Given the description of an element on the screen output the (x, y) to click on. 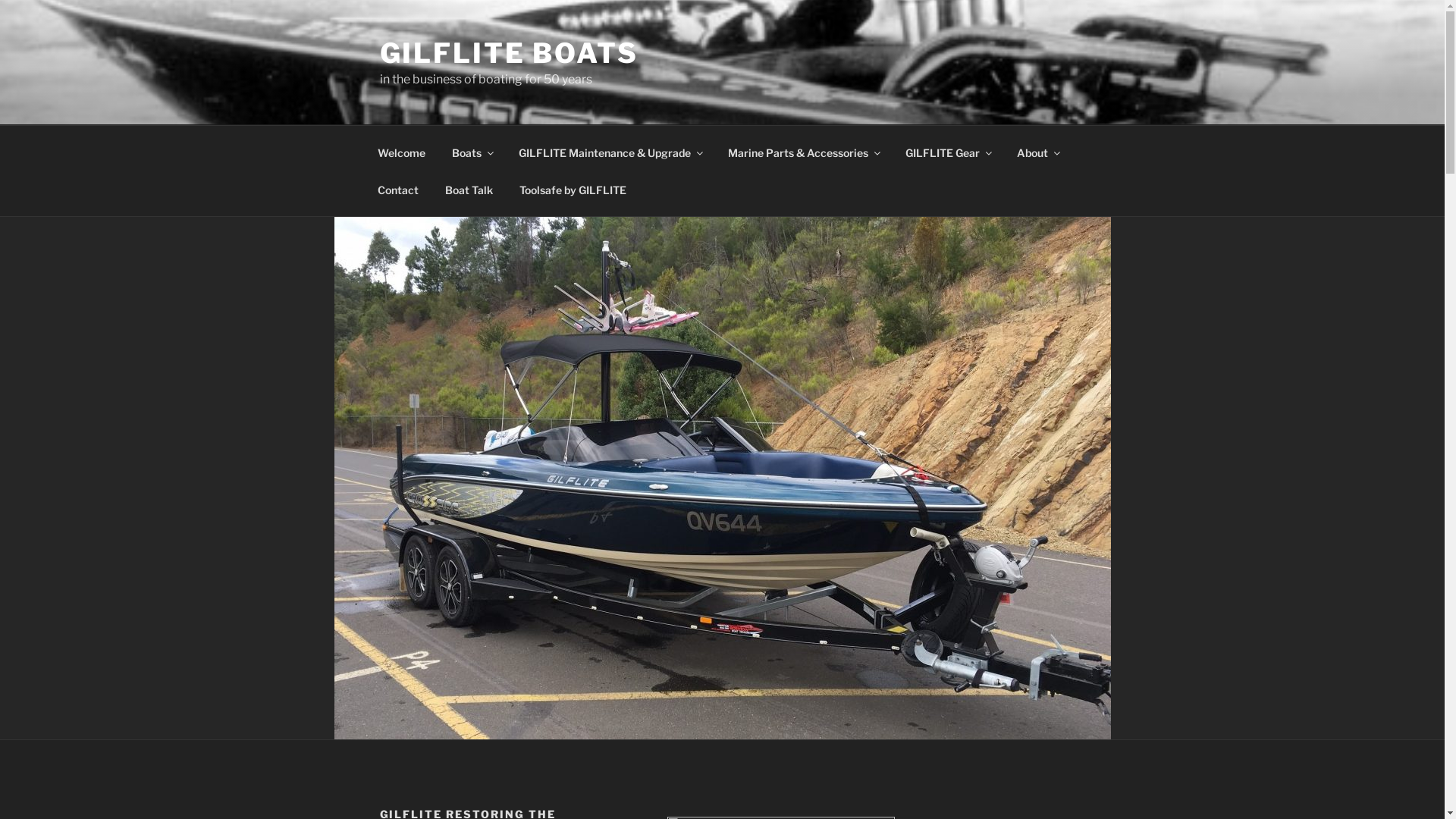
Boats Element type: text (471, 151)
About Element type: text (1038, 151)
Toolsafe by GILFLITE Element type: text (573, 189)
GILFLITE BOATS Element type: text (508, 52)
GILFLITE Maintenance & Upgrade Element type: text (609, 151)
Boat Talk Element type: text (469, 189)
Marine Parts & Accessories Element type: text (802, 151)
Welcome Element type: text (401, 151)
Contact Element type: text (397, 189)
GILFLITE Gear Element type: text (947, 151)
